Given the description of an element on the screen output the (x, y) to click on. 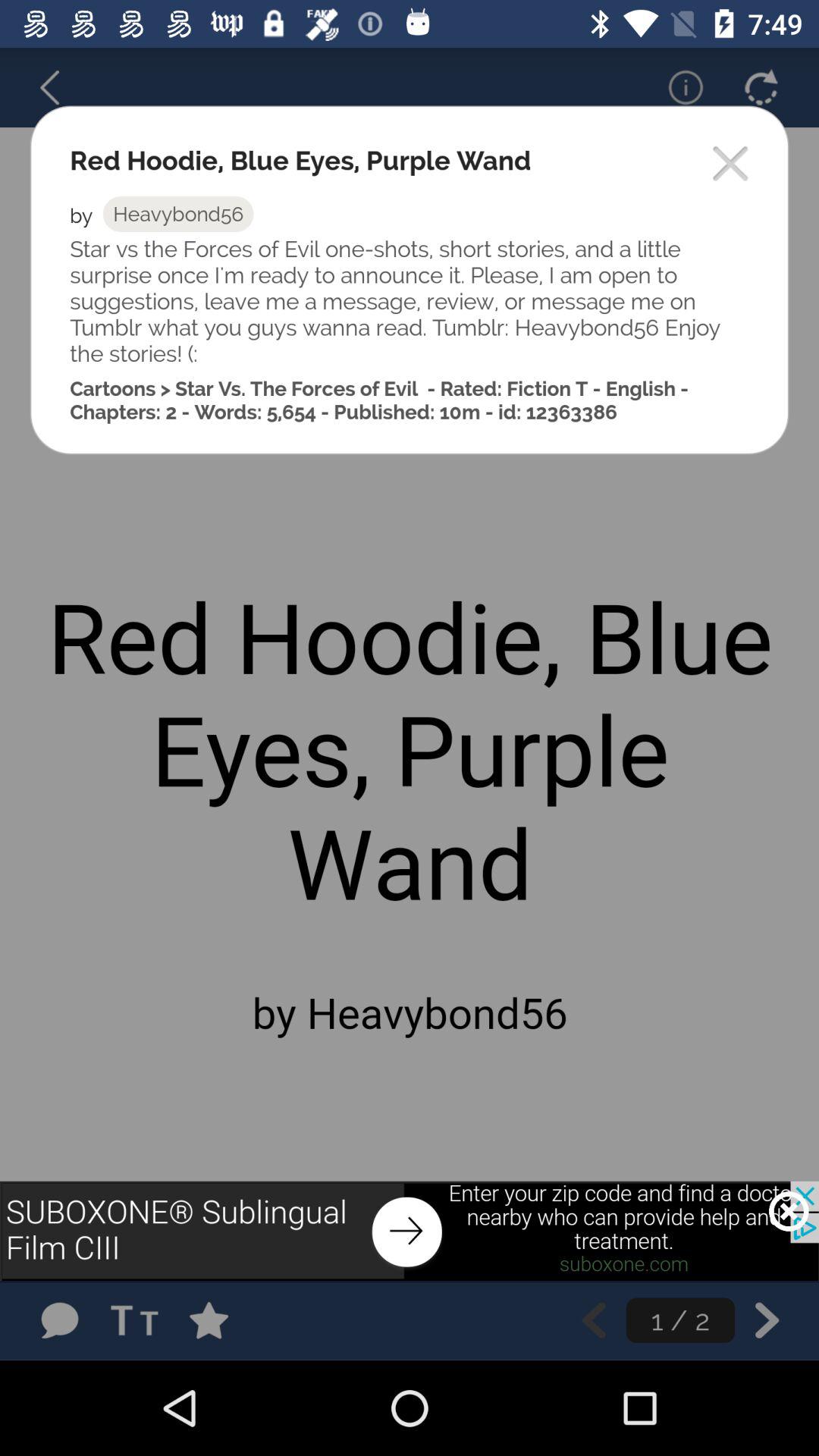
add this page to your favourites (224, 1320)
